Given the description of an element on the screen output the (x, y) to click on. 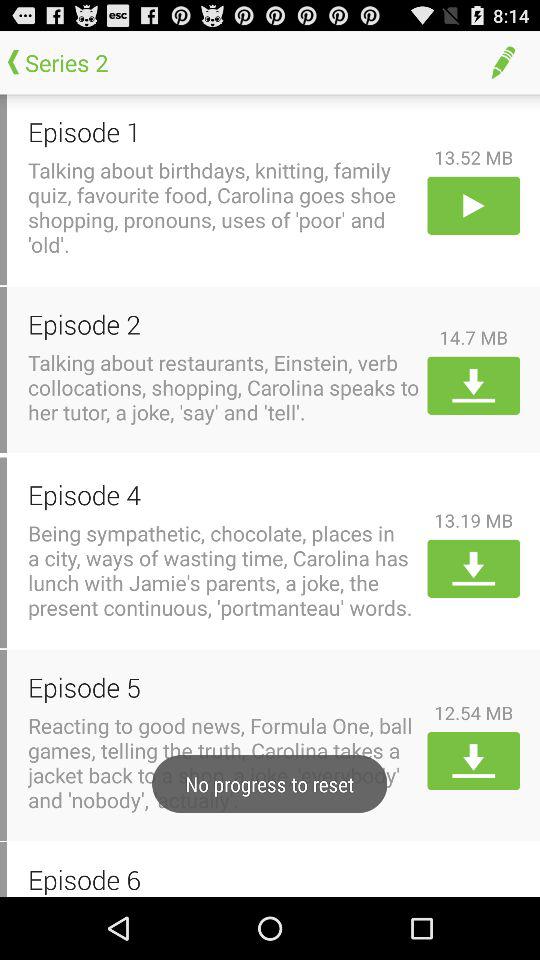
launch the icon to the left of 14.7 mb icon (224, 323)
